Given the description of an element on the screen output the (x, y) to click on. 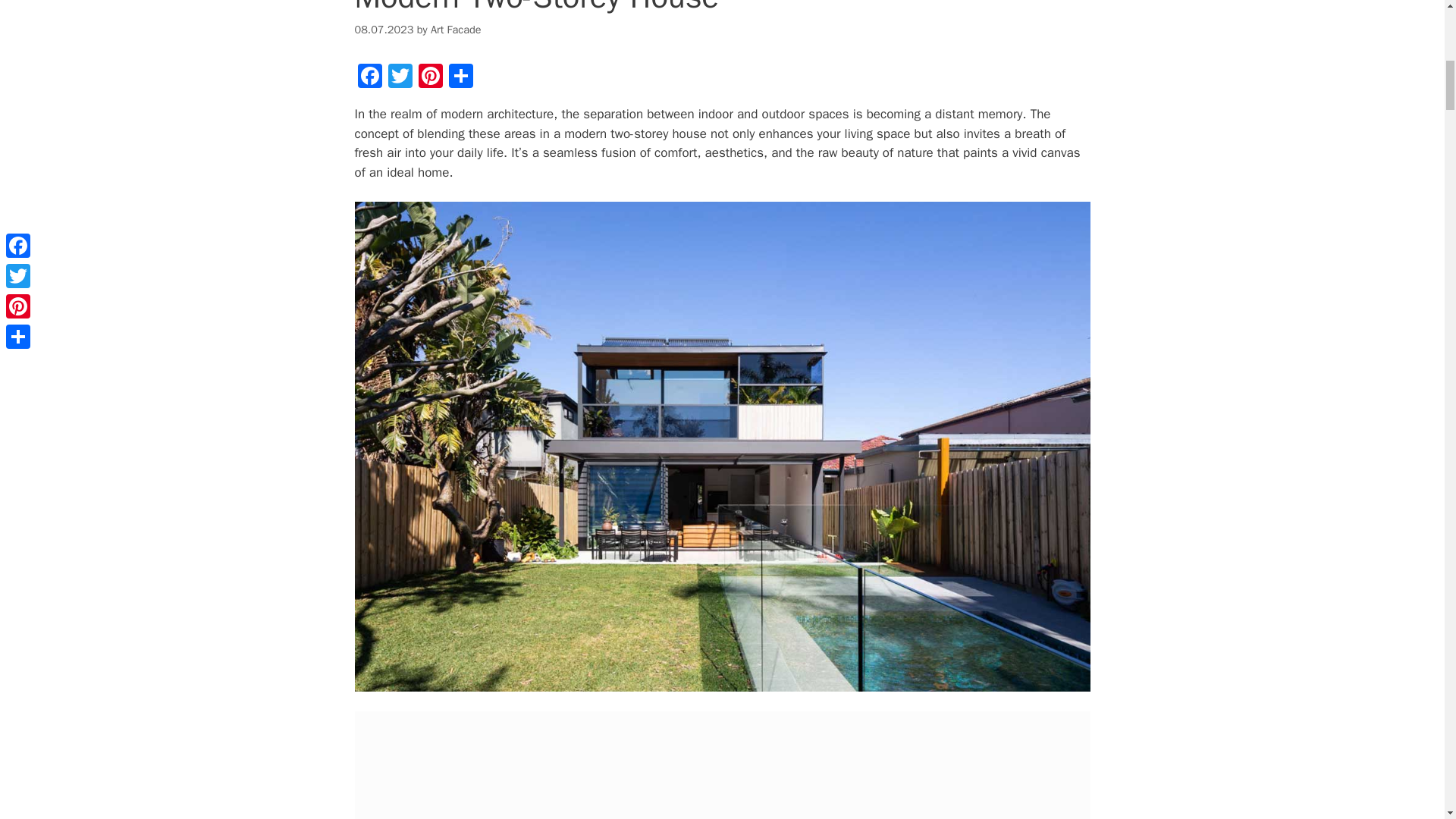
Scroll back to top (1406, 720)
Pinterest (429, 77)
Twitter (399, 77)
View all posts by Art Facade (455, 29)
Facebook (370, 77)
